Given the description of an element on the screen output the (x, y) to click on. 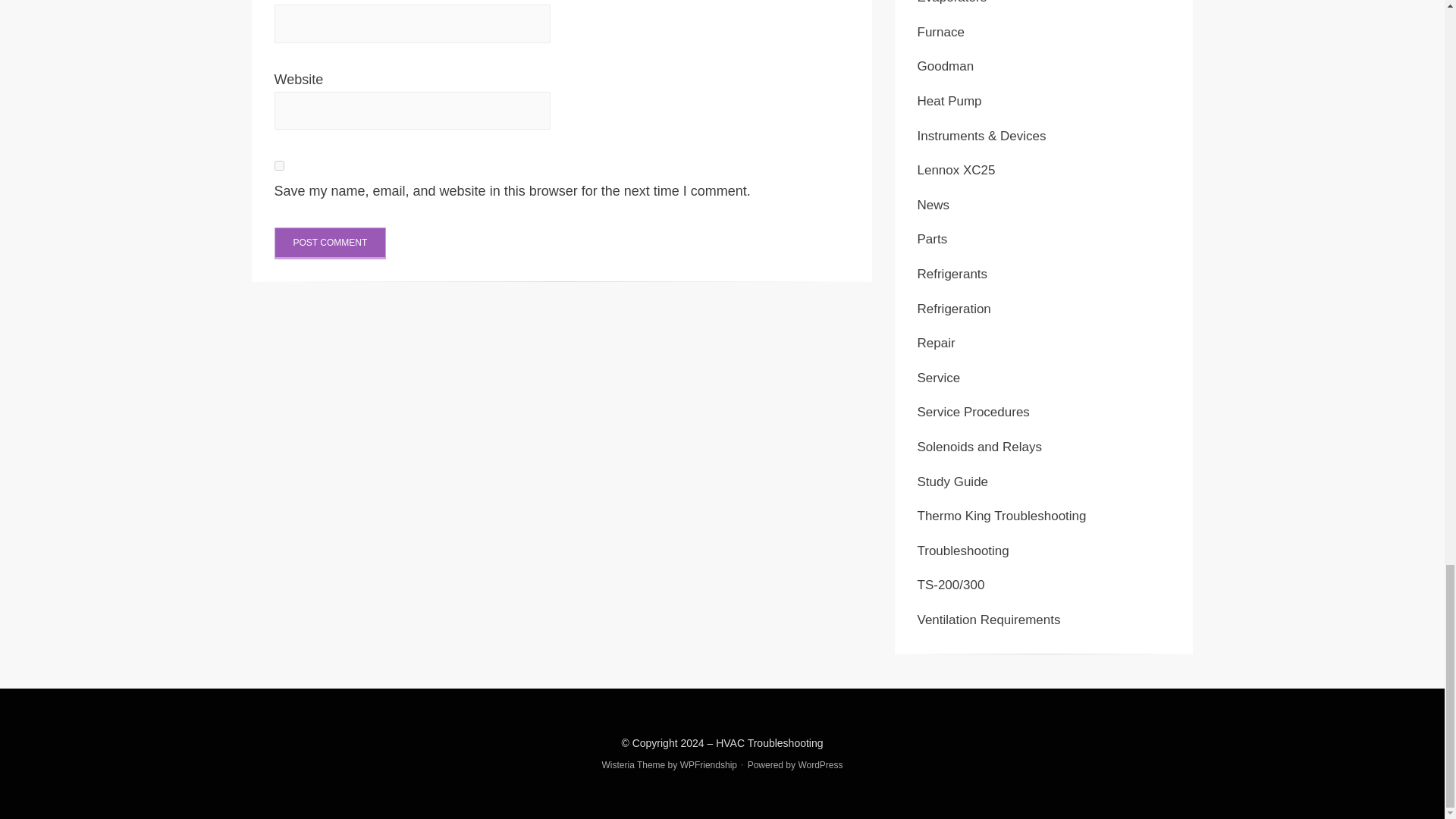
yes (279, 165)
WordPress (820, 765)
Post Comment (331, 243)
Lennox XC25 (956, 169)
Post Comment (331, 243)
Goodman (945, 65)
Heat Pump (949, 101)
Evaporators (952, 2)
Furnace (940, 32)
WPFriendship (707, 765)
